Given the description of an element on the screen output the (x, y) to click on. 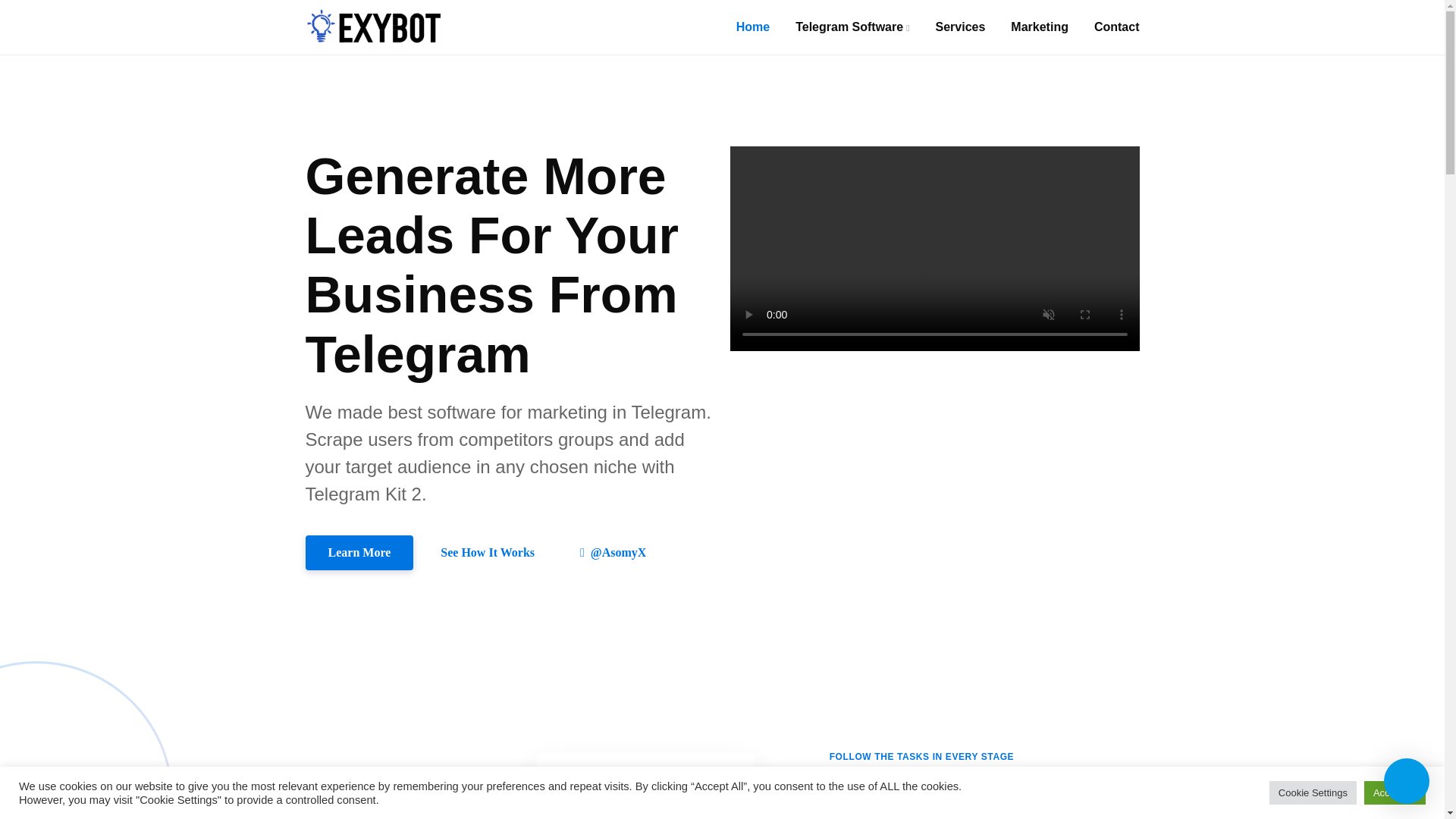
Marketing (1039, 27)
Services (960, 27)
Telegram Software (851, 27)
Learn More (358, 552)
See How It Works (487, 552)
